Given the description of an element on the screen output the (x, y) to click on. 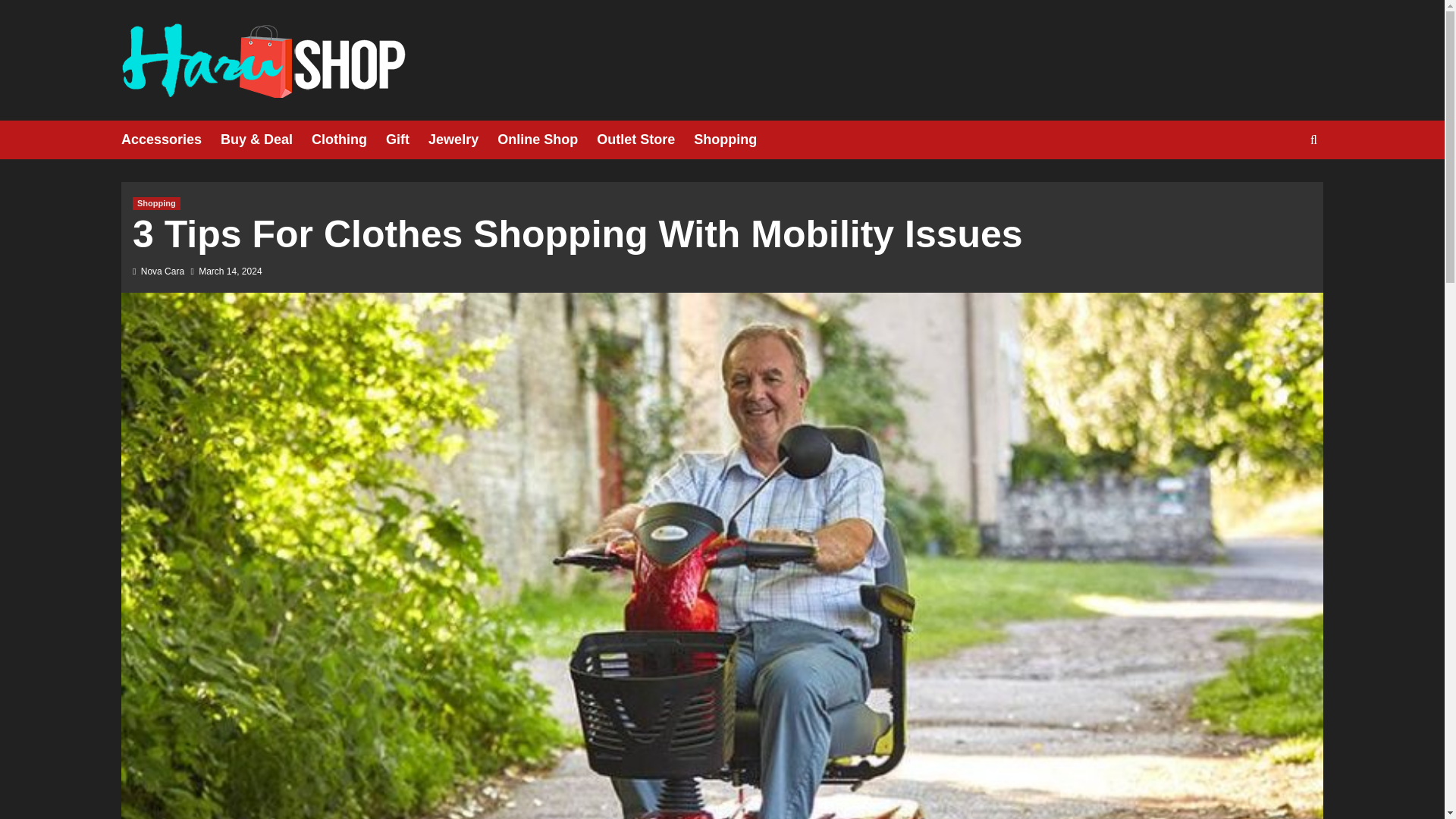
Nova Cara (162, 271)
Jewelry (462, 139)
Shopping (156, 203)
Outlet Store (645, 139)
Gift (406, 139)
Accessories (170, 139)
March 14, 2024 (230, 271)
Search (1278, 186)
Online Shop (546, 139)
Shopping (735, 139)
